Given the description of an element on the screen output the (x, y) to click on. 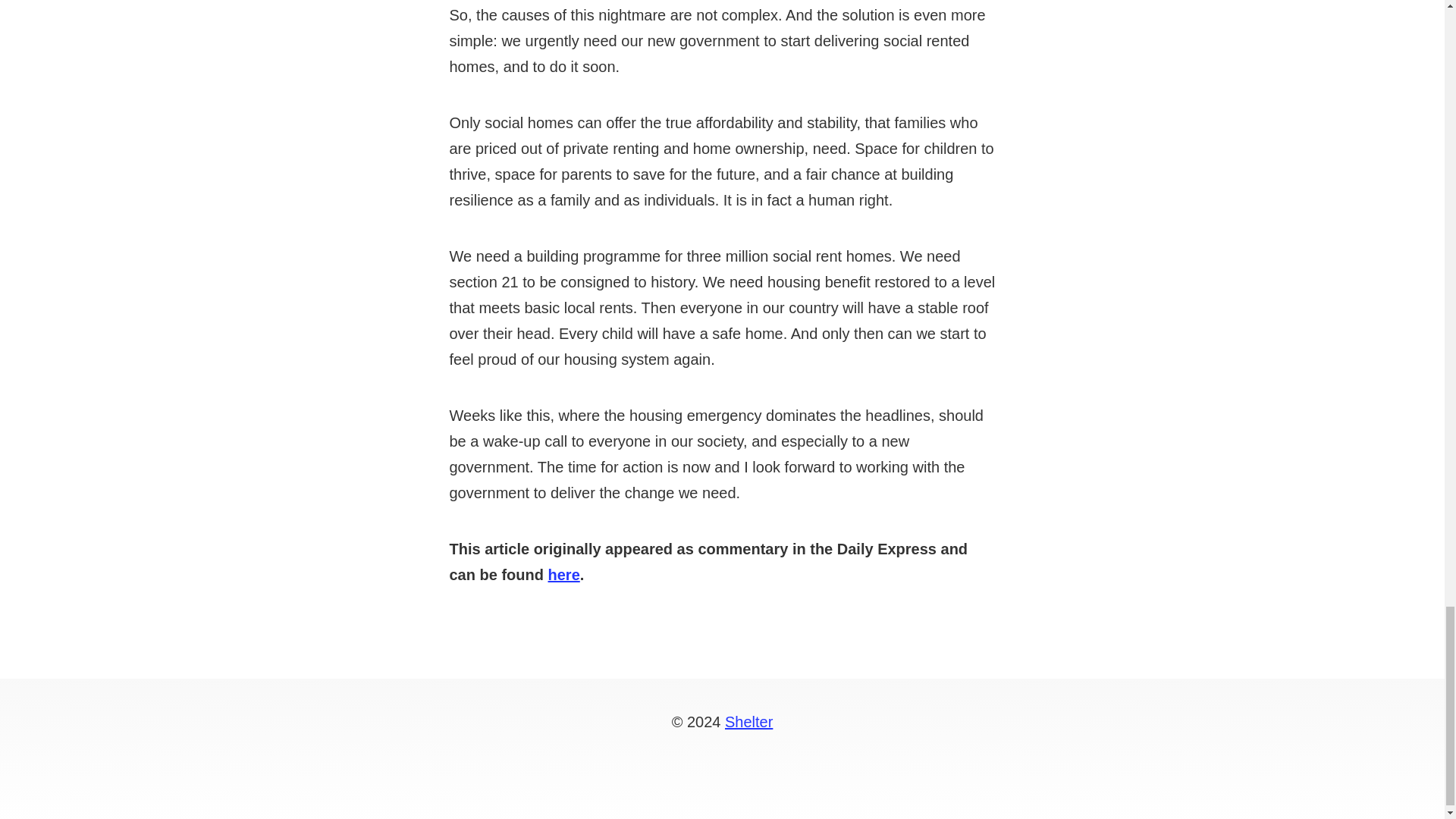
Shelter (749, 721)
here (563, 574)
